Given the description of an element on the screen output the (x, y) to click on. 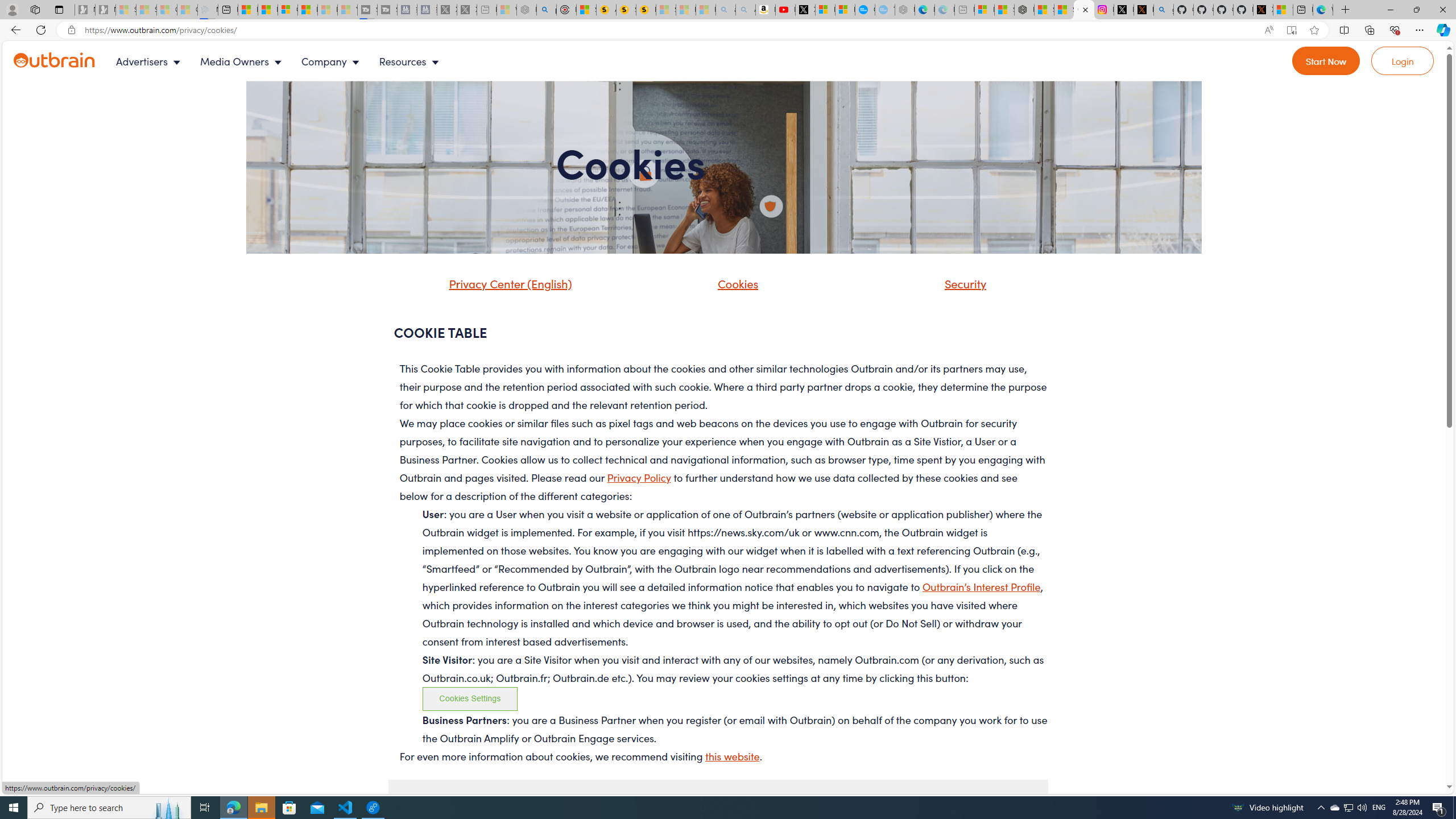
Day 1: Arriving in Yemen (surreal to be here) - YouTube (785, 9)
Main Navigation (287, 61)
